Given the description of an element on the screen output the (x, y) to click on. 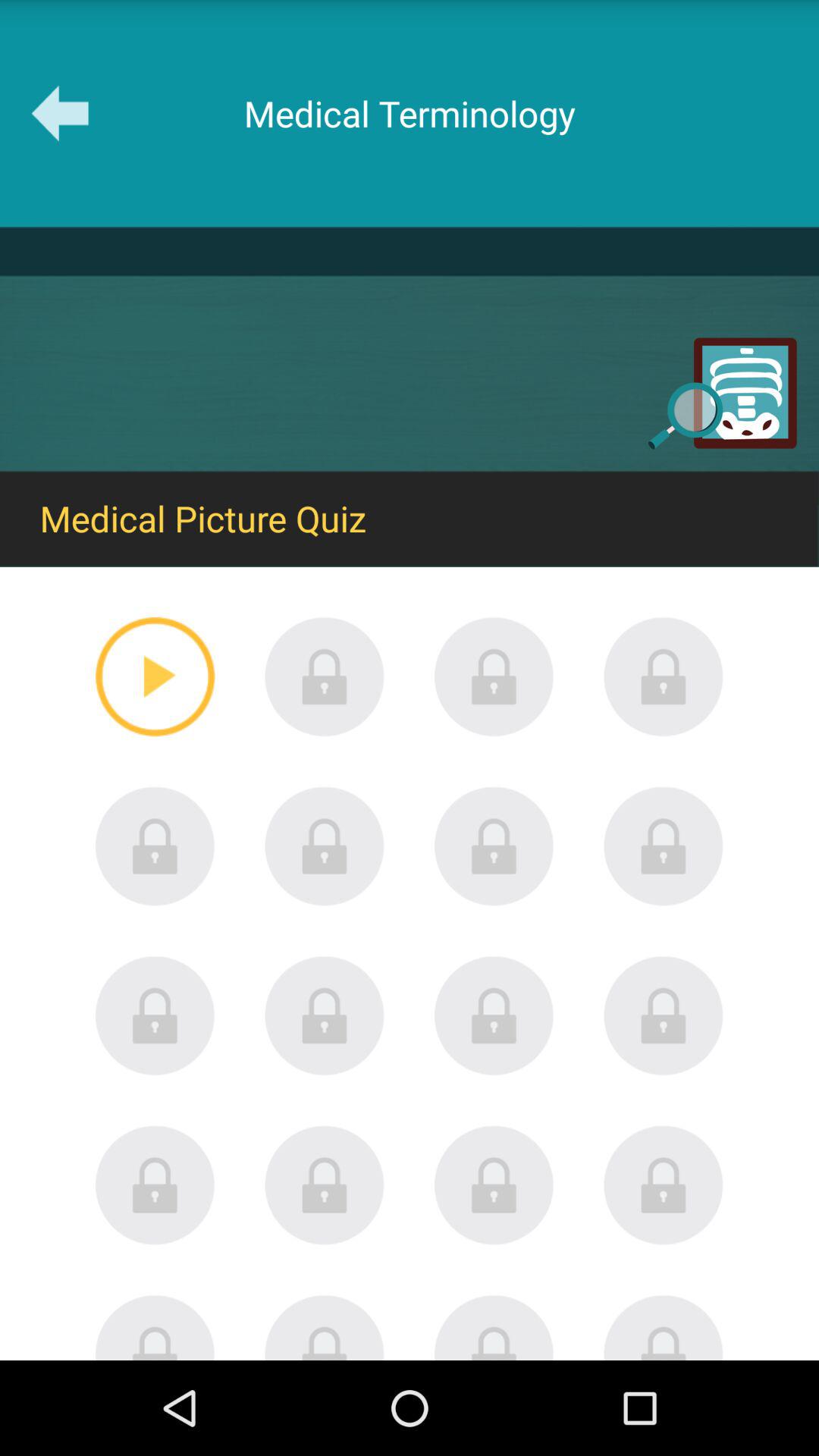
not accessible (493, 846)
